Given the description of an element on the screen output the (x, y) to click on. 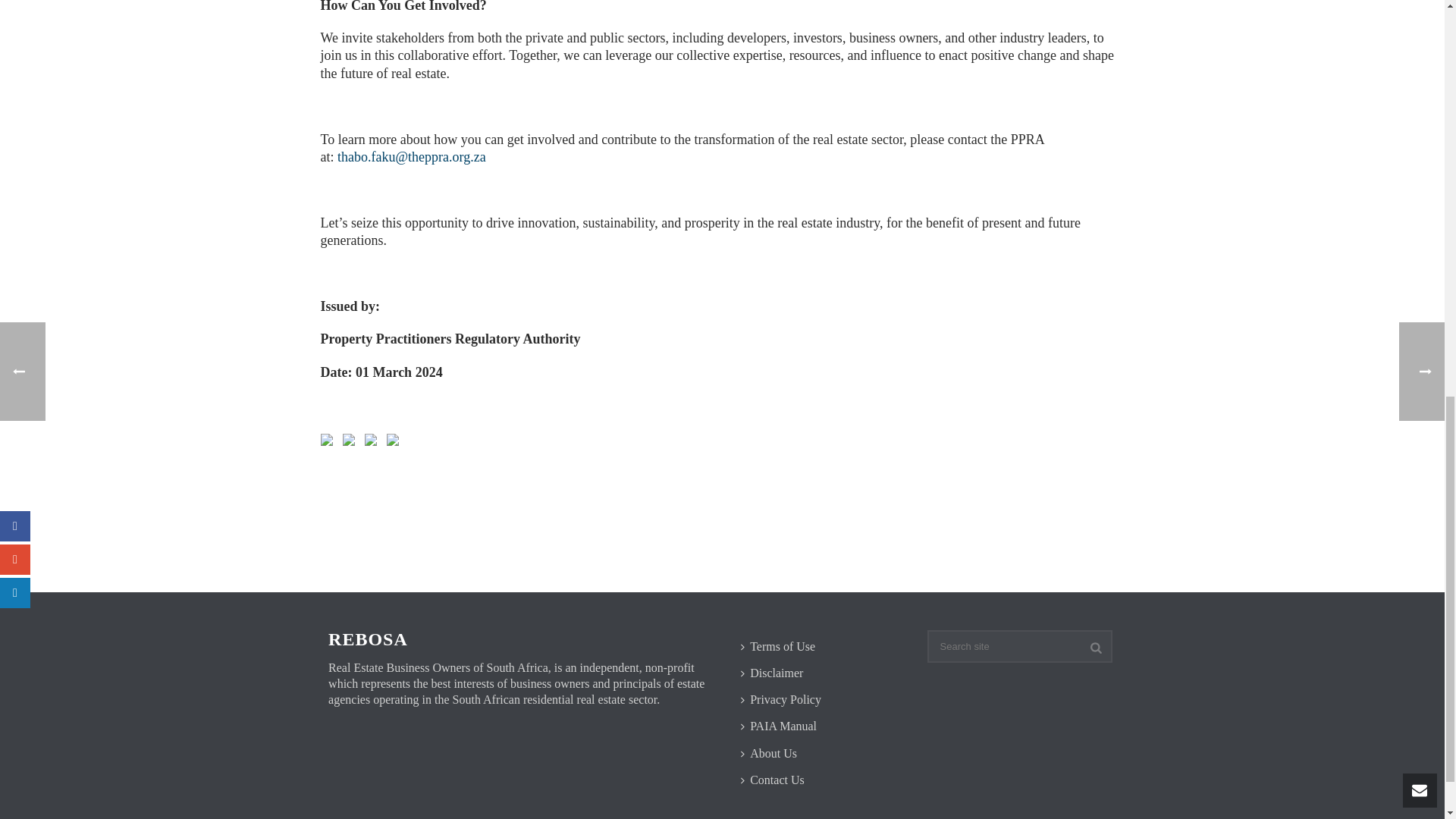
Share on Facebook (328, 443)
Share by email (395, 443)
Share on Twitter (351, 443)
Share on Linkedin (372, 443)
